Given the description of an element on the screen output the (x, y) to click on. 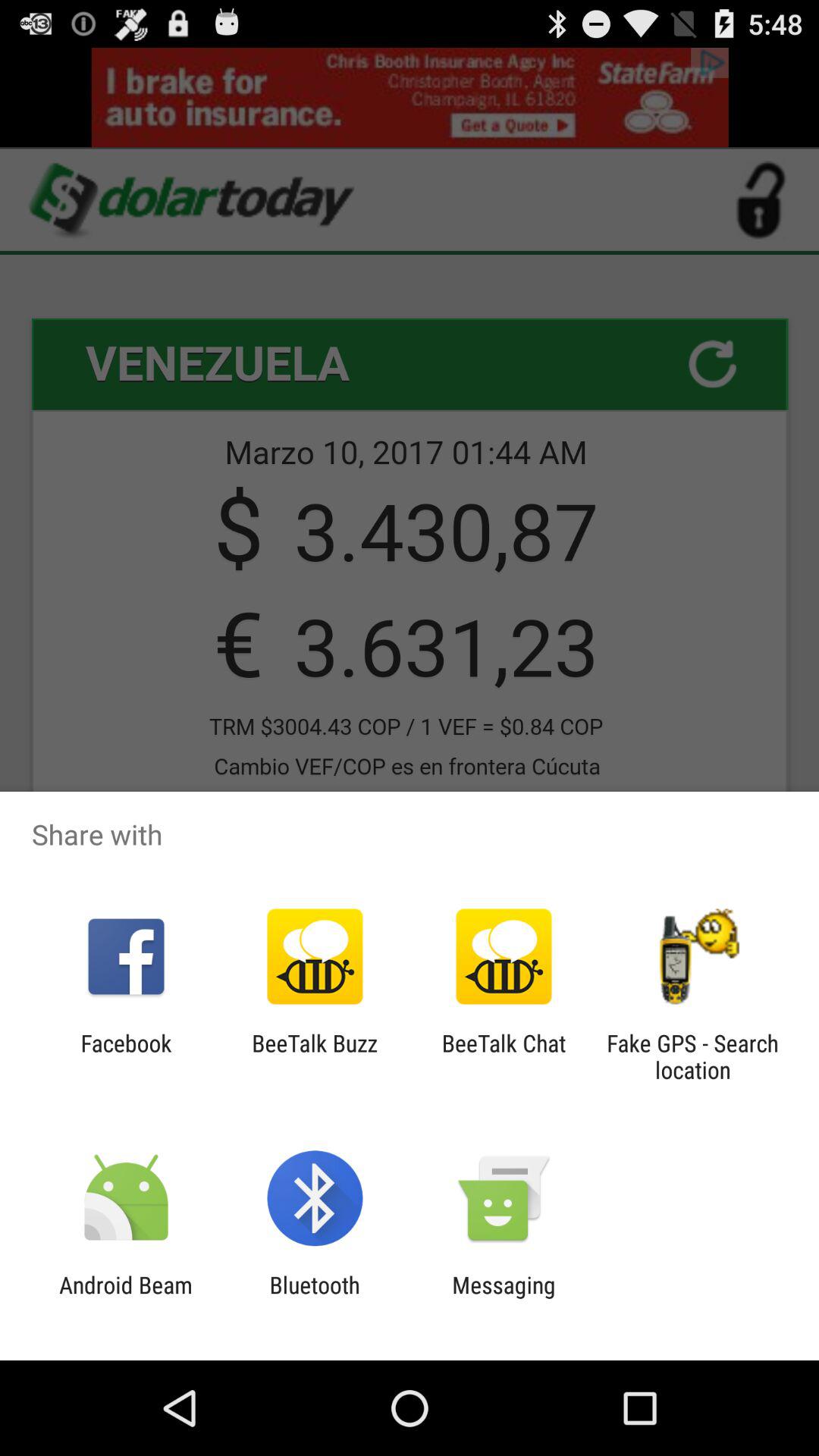
turn off icon to the right of beetalk chat item (692, 1056)
